Given the description of an element on the screen output the (x, y) to click on. 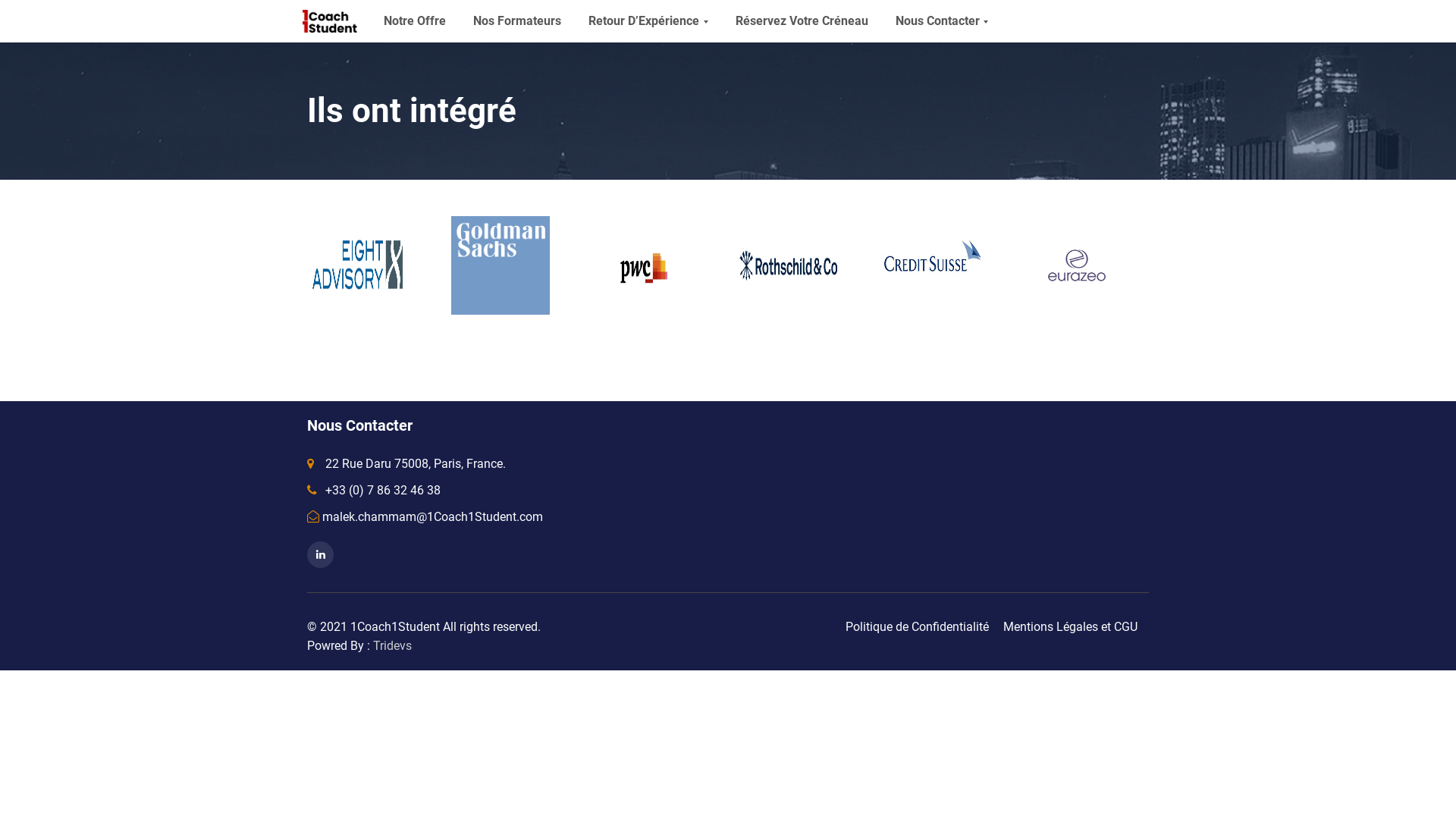
PwC Element type: hover (644, 265)
Rothschild Element type: hover (788, 265)
8 Advisory Element type: hover (356, 265)
Notre Offre Element type: text (414, 21)
malek.chammam@1Coach1Student.com Element type: text (424, 516)
Nos Formateurs Element type: text (517, 21)
Eurazeo Element type: hover (1076, 265)
Goldman Sachs Element type: hover (500, 265)
Tridevs Element type: text (392, 645)
+33 (0) 7 86 32 46 38 Element type: text (373, 490)
Nous Contacter Element type: text (941, 21)
